Given the description of an element on the screen output the (x, y) to click on. 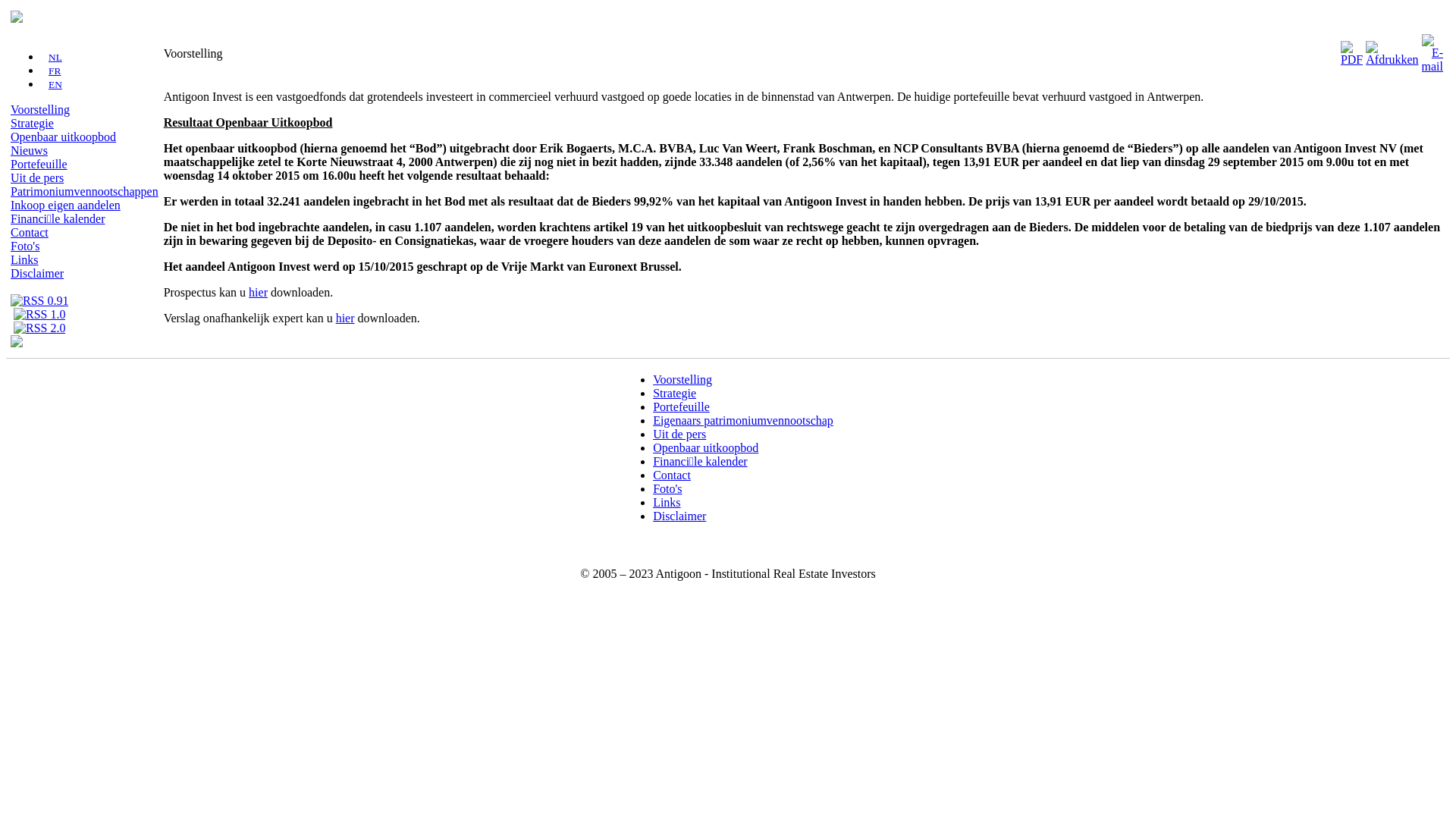
Foto's Element type: text (666, 488)
Uit de pers Element type: text (36, 177)
EN Element type: text (51, 84)
E-mail Element type: hover (1432, 49)
Patrimoniumvennootschappen Element type: text (84, 191)
hier Element type: text (344, 317)
Inkoop eigen aandelen Element type: text (65, 204)
Strategie Element type: text (674, 392)
Links Element type: text (23, 259)
Links Element type: text (666, 501)
Uit de pers Element type: text (679, 433)
hier Element type: text (257, 291)
NL Element type: text (51, 56)
Afdrukken Element type: hover (1391, 49)
Portefeuille Element type: text (38, 163)
Voorstelling Element type: text (682, 379)
Disclaimer Element type: text (36, 272)
FR Element type: text (50, 70)
Disclaimer Element type: text (679, 515)
Foto's Element type: text (24, 245)
Nieuws Element type: text (28, 150)
Portefeuille Element type: text (680, 406)
PDF Element type: hover (1351, 49)
Openbaar uitkoopbod Element type: text (63, 136)
Voorstelling Element type: text (39, 109)
Contact Element type: text (29, 231)
Strategie Element type: text (31, 122)
Contact Element type: text (671, 474)
Openbaar uitkoopbod Element type: text (705, 447)
Eigenaars patrimoniumvennootschap Element type: text (742, 420)
